Given the description of an element on the screen output the (x, y) to click on. 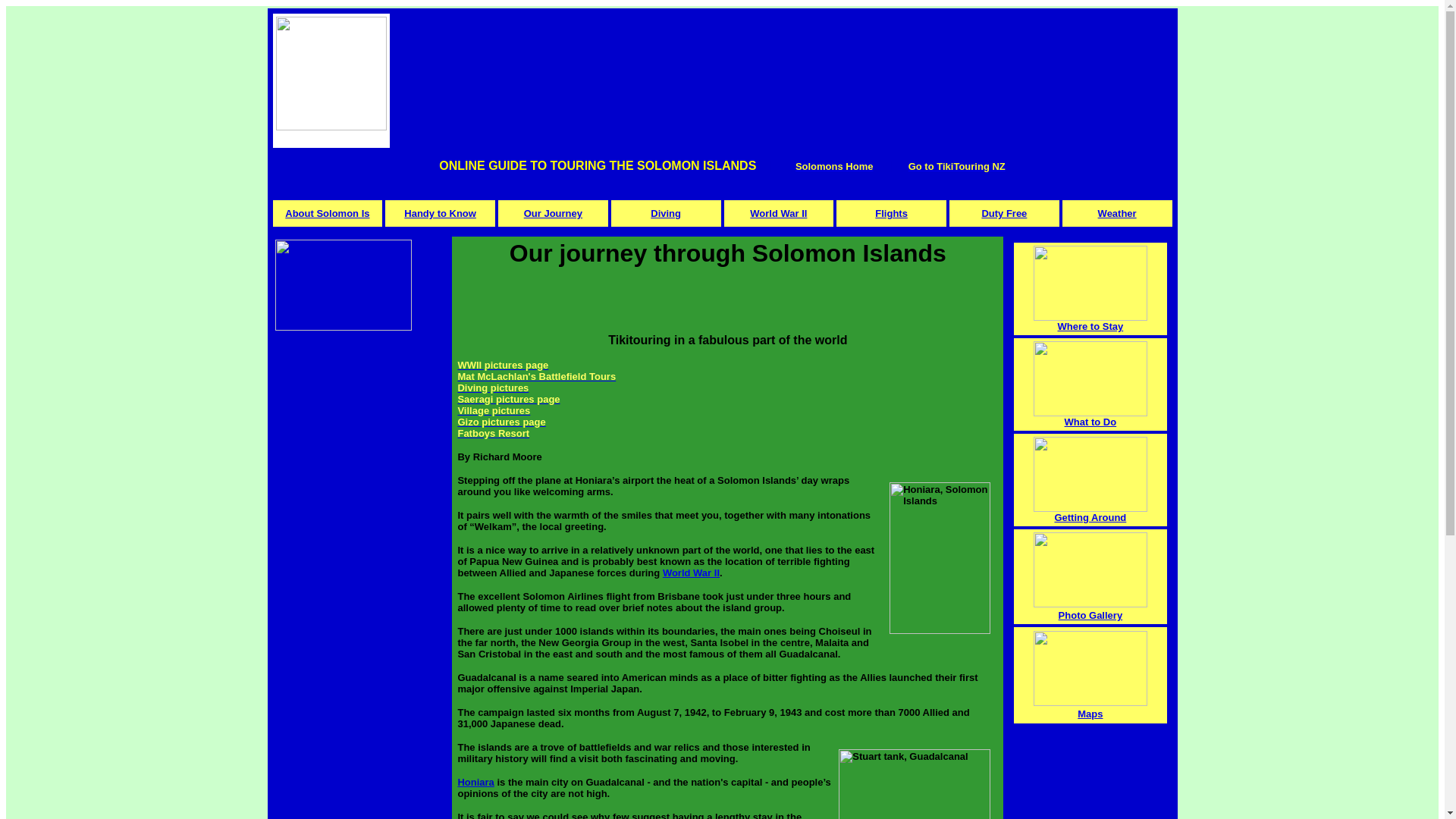
World War II (690, 572)
Fatboys Resort (493, 432)
Diving (665, 213)
Mat McLachlan's Battlefield Tours (536, 376)
What to Do (1090, 421)
WWII pictures page (502, 365)
Maps (1112, 719)
Weather (1117, 213)
Photo Gallery (1102, 620)
Go to TikiTouring NZ (957, 165)
Saeragi pictures page (508, 398)
Flights (891, 213)
Diving pictures (492, 387)
Duty Free (1003, 213)
Gizo pictures page (500, 421)
